Given the description of an element on the screen output the (x, y) to click on. 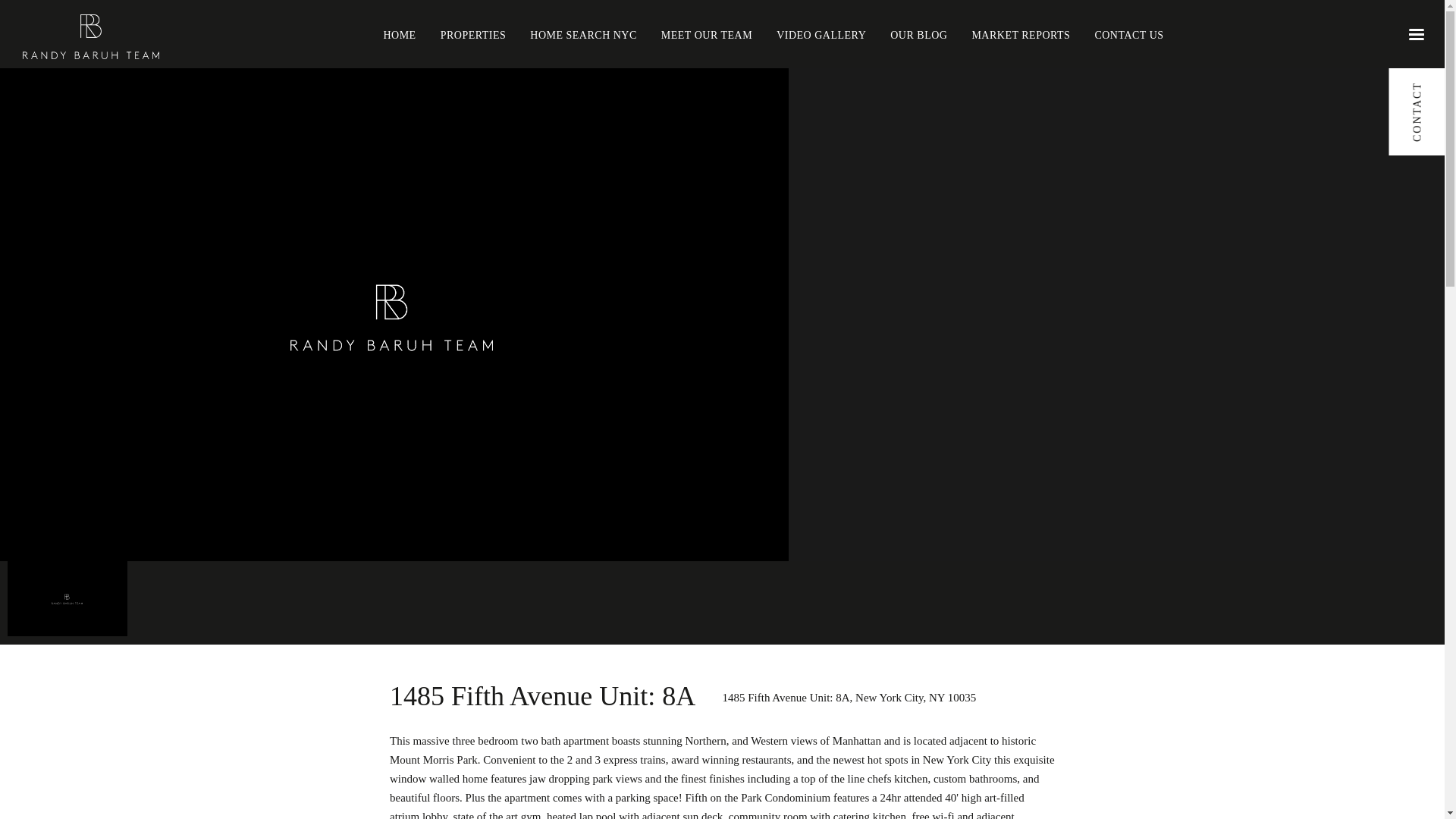
PROPERTIES (473, 33)
MEET OUR TEAM (706, 33)
HOME (398, 33)
VIDEO GALLERY (821, 33)
HOME SEARCH NYC (583, 33)
OUR BLOG (918, 33)
CONTACT US (1128, 33)
MARKET REPORTS (1020, 33)
